Given the description of an element on the screen output the (x, y) to click on. 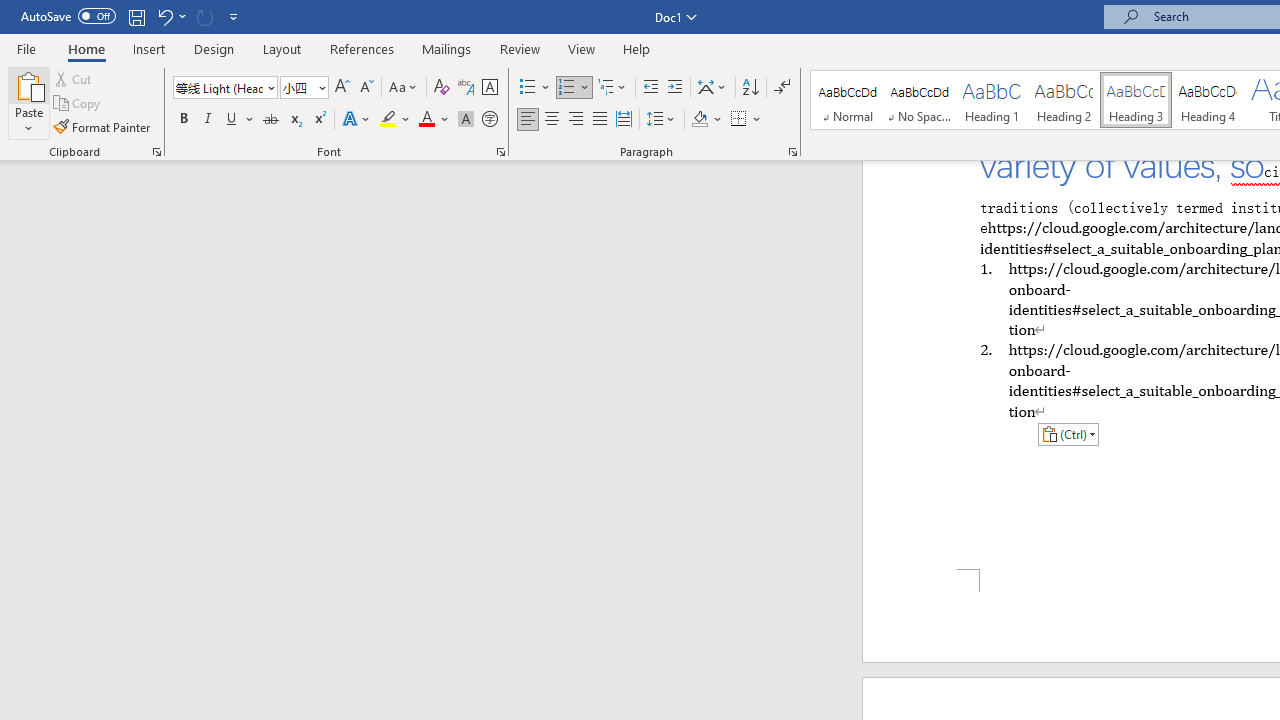
Format Painter (103, 126)
Undo Paste (170, 15)
Undo Paste (164, 15)
Text Highlight Color (395, 119)
